Given the description of an element on the screen output the (x, y) to click on. 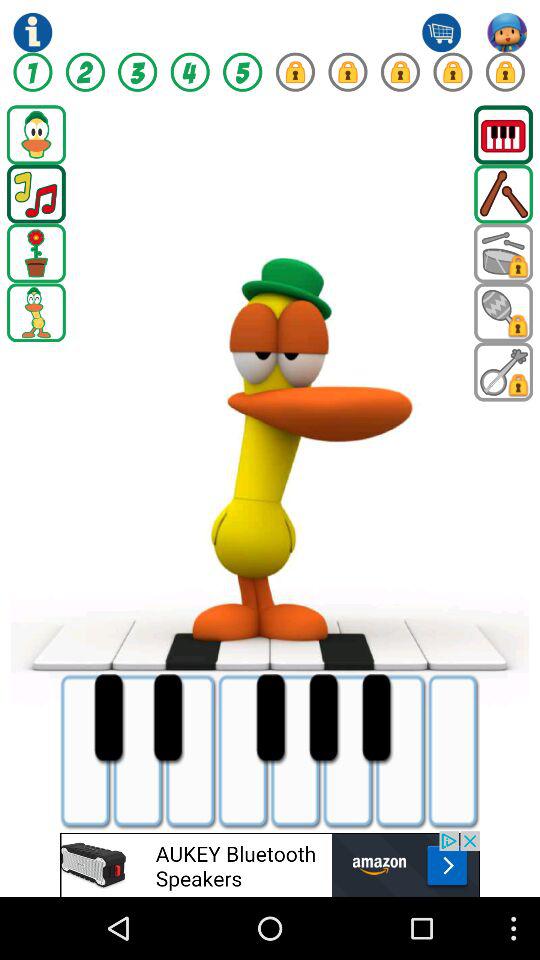
more info (32, 32)
